Given the description of an element on the screen output the (x, y) to click on. 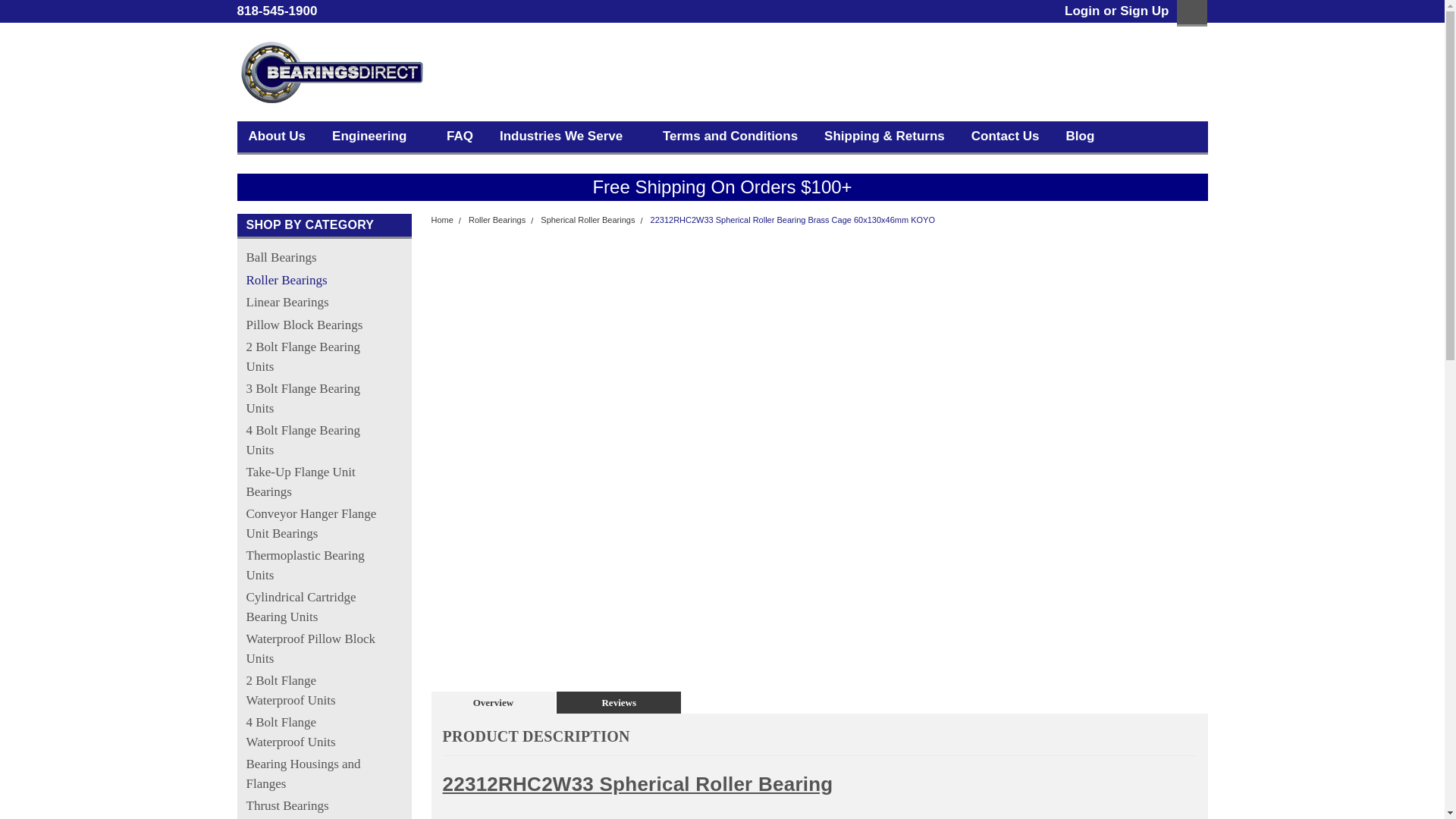
Sign Up (1142, 11)
Bearings Direct (330, 72)
Login (1081, 11)
